Given the description of an element on the screen output the (x, y) to click on. 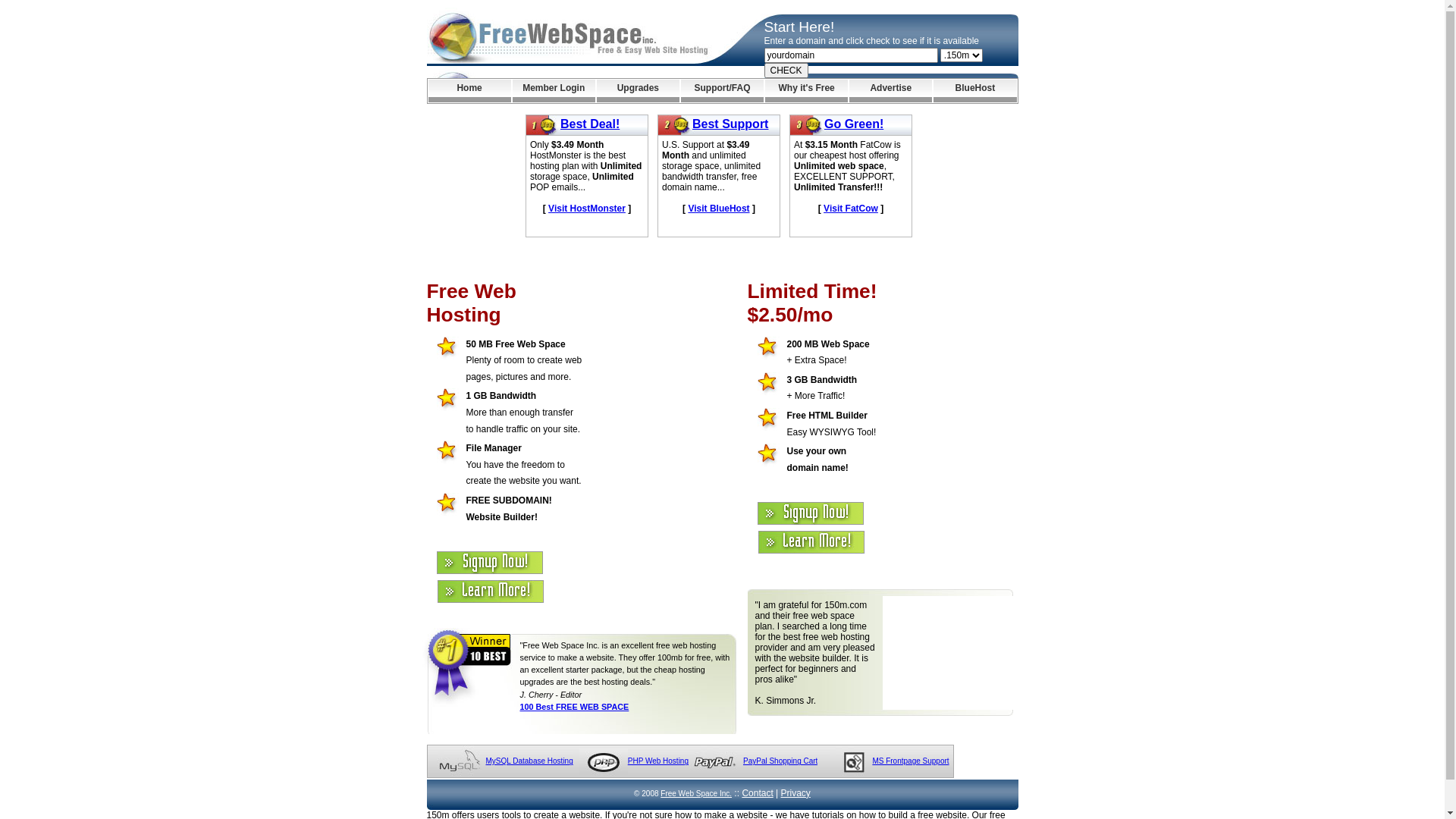
PHP Web Hosting Element type: text (657, 760)
BlueHost Element type: text (974, 90)
Home Element type: text (468, 90)
Upgrades Element type: text (637, 90)
PayPal Shopping Cart Element type: text (780, 760)
Contact Element type: text (756, 792)
100 Best FREE WEB SPACE Element type: text (574, 706)
Advertise Element type: text (890, 90)
MySQL Database Hosting Element type: text (528, 760)
Support/FAQ Element type: text (721, 90)
Why it's Free Element type: text (806, 90)
Member Login Element type: text (553, 90)
CHECK Element type: text (786, 70)
MS Frontpage Support Element type: text (910, 760)
Free Web Space Inc. Element type: text (695, 793)
Privacy Element type: text (795, 792)
